Given the description of an element on the screen output the (x, y) to click on. 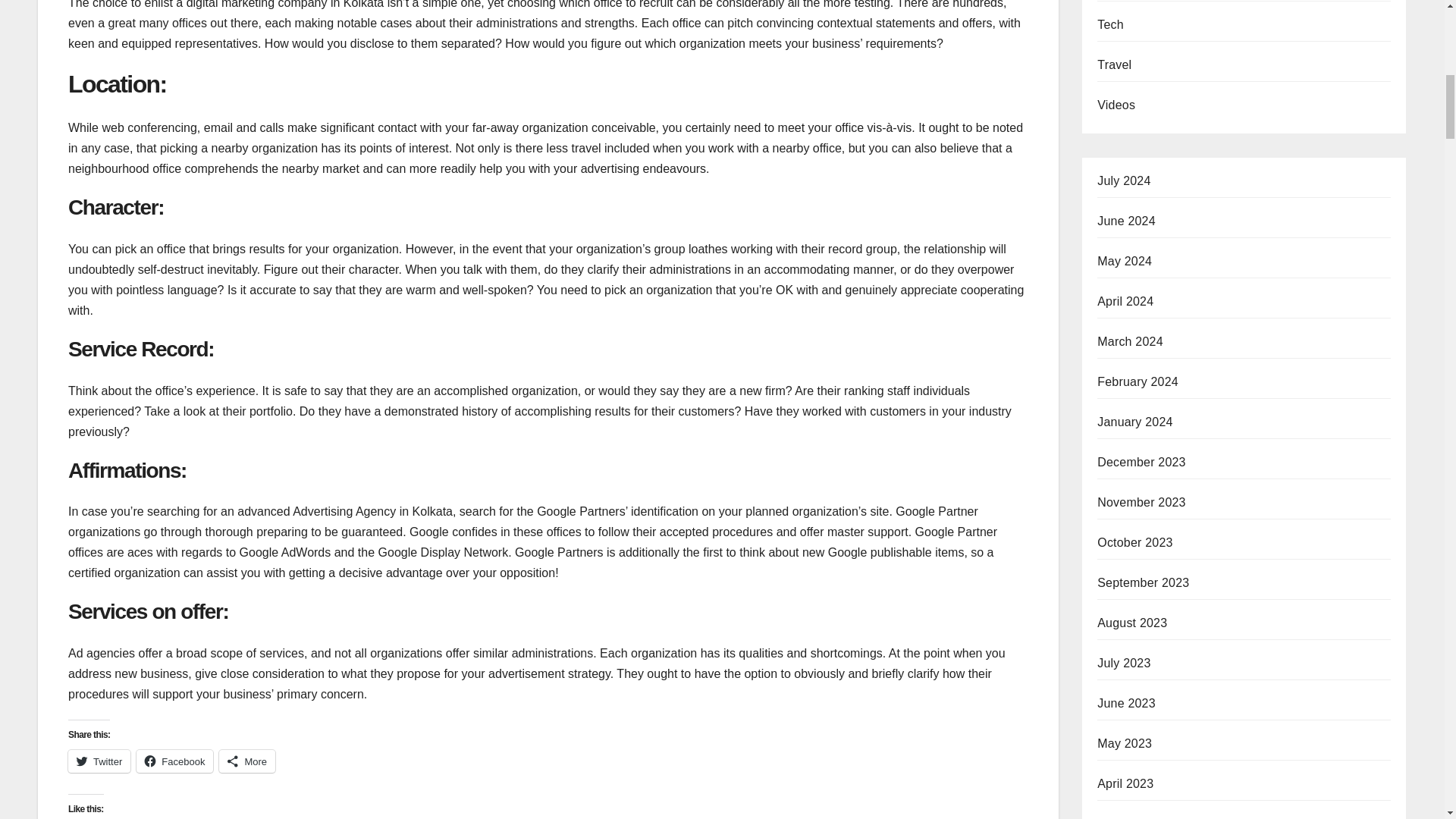
Click to share on Twitter (99, 761)
More (247, 761)
Twitter (99, 761)
Facebook (174, 761)
Click to share on Facebook (174, 761)
